Given the description of an element on the screen output the (x, y) to click on. 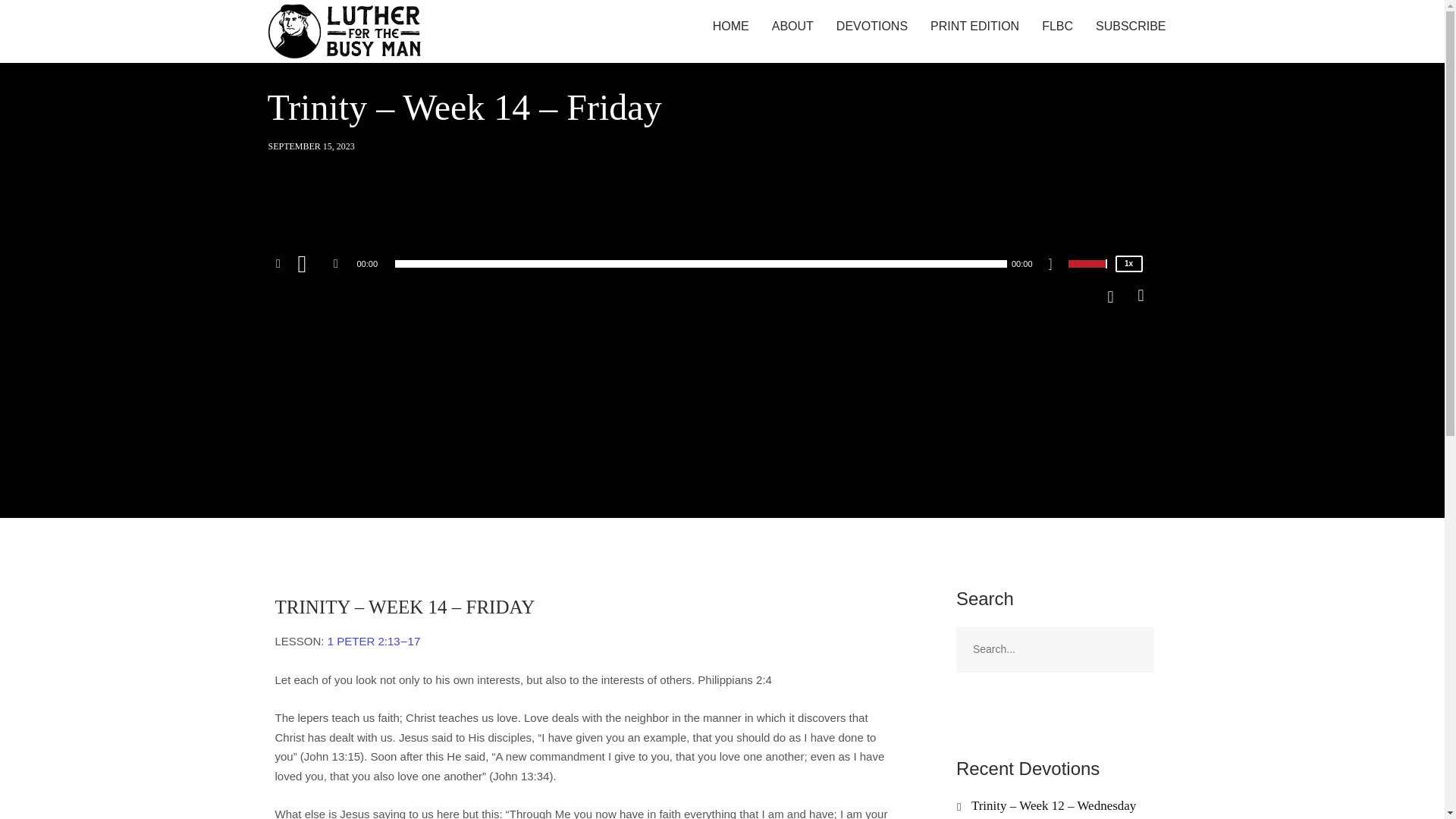
ABOUT (792, 26)
PRINT EDITION (974, 26)
Luther For the Busy Man (345, 31)
Mute (1055, 265)
Play (312, 263)
FLBC (1057, 26)
HOME (730, 26)
DEVOTIONS (871, 26)
1x (1128, 263)
Speed Rate (1128, 263)
